Given the description of an element on the screen output the (x, y) to click on. 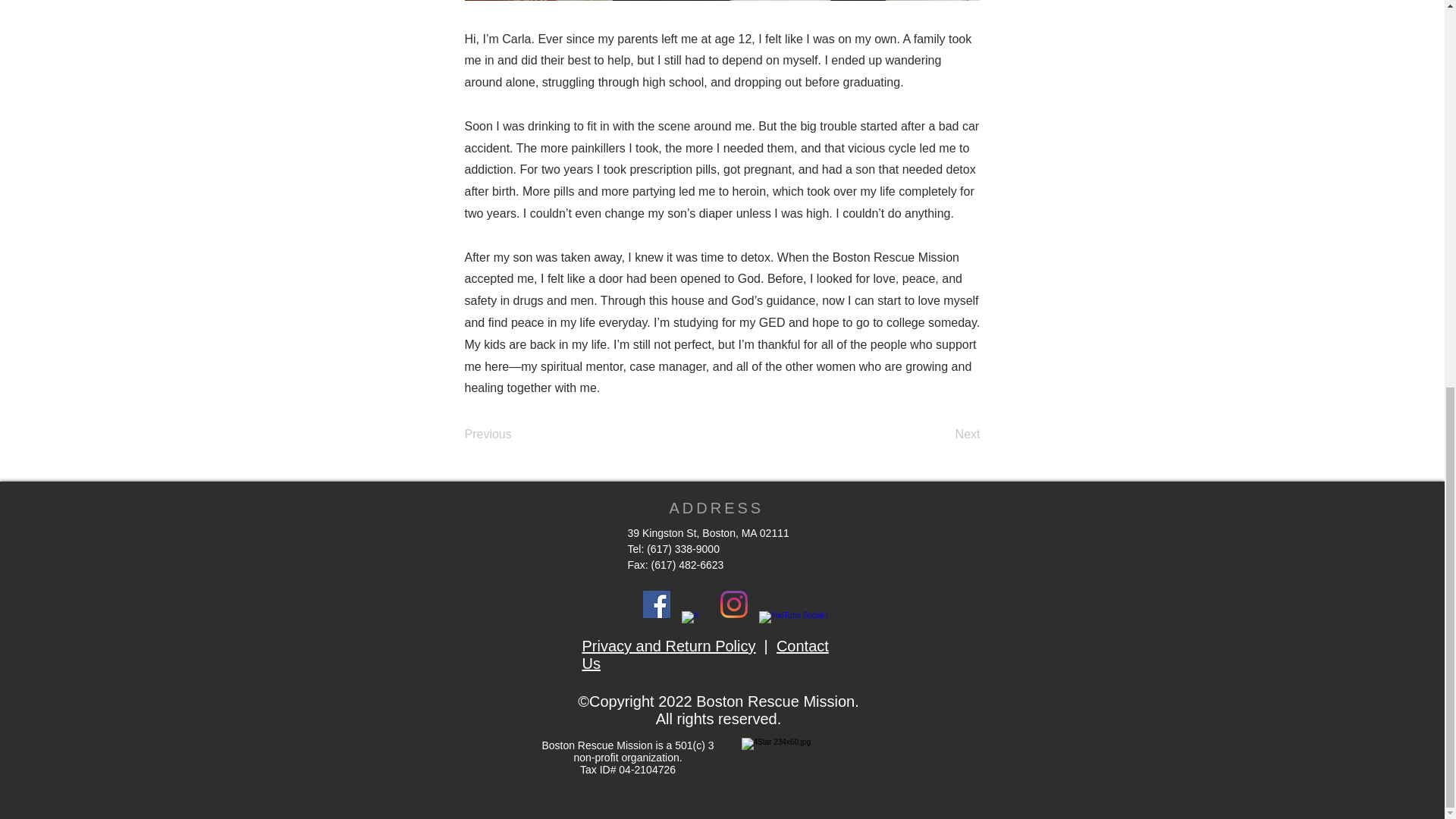
Previous (514, 434)
Privacy and Return Policy (668, 646)
Next (941, 434)
Contact Us (705, 654)
